Given the description of an element on the screen output the (x, y) to click on. 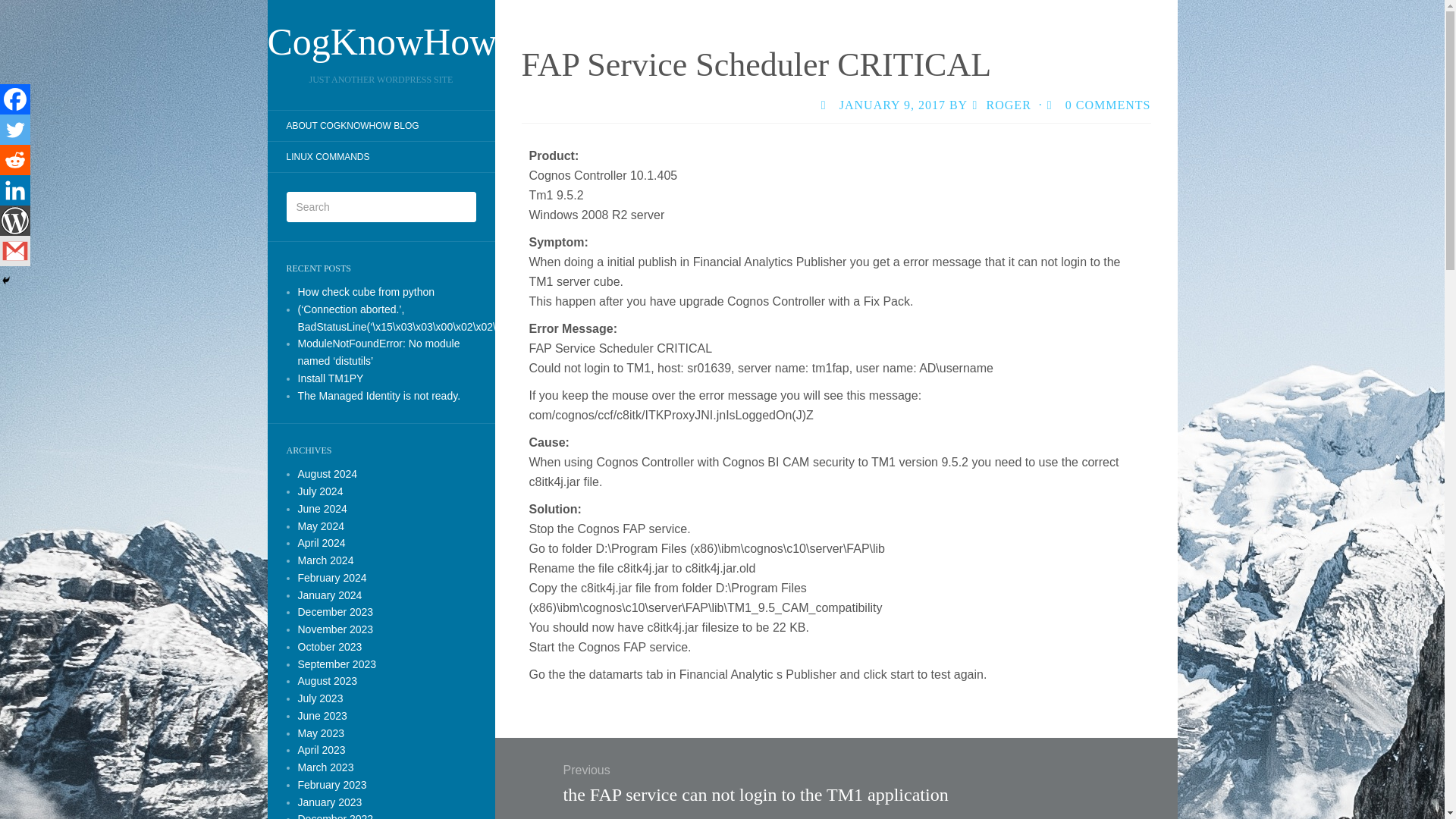
May 2024 (320, 526)
Reddit (15, 159)
Linkedin (15, 190)
October 2023 (329, 646)
WordPress (15, 220)
CogKnowHow (380, 41)
July 2023 (319, 698)
February 2024 (331, 577)
ABOUT COGKNOWHOW BLOG (352, 125)
Search (22, 11)
